Given the description of an element on the screen output the (x, y) to click on. 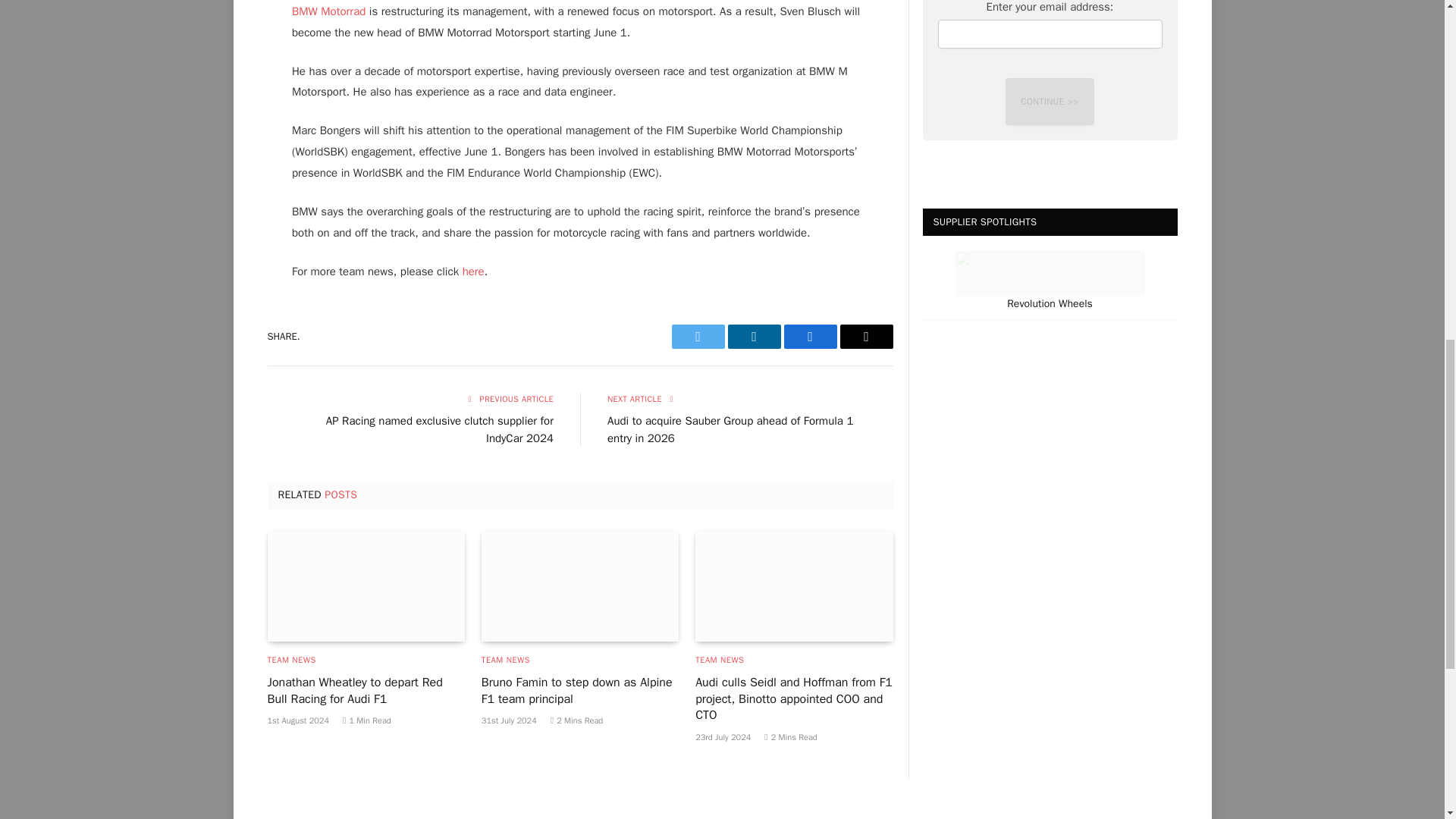
Share via Email (866, 336)
Share on Facebook (810, 336)
Share on Twitter (698, 336)
Share on LinkedIn (754, 336)
